Given the description of an element on the screen output the (x, y) to click on. 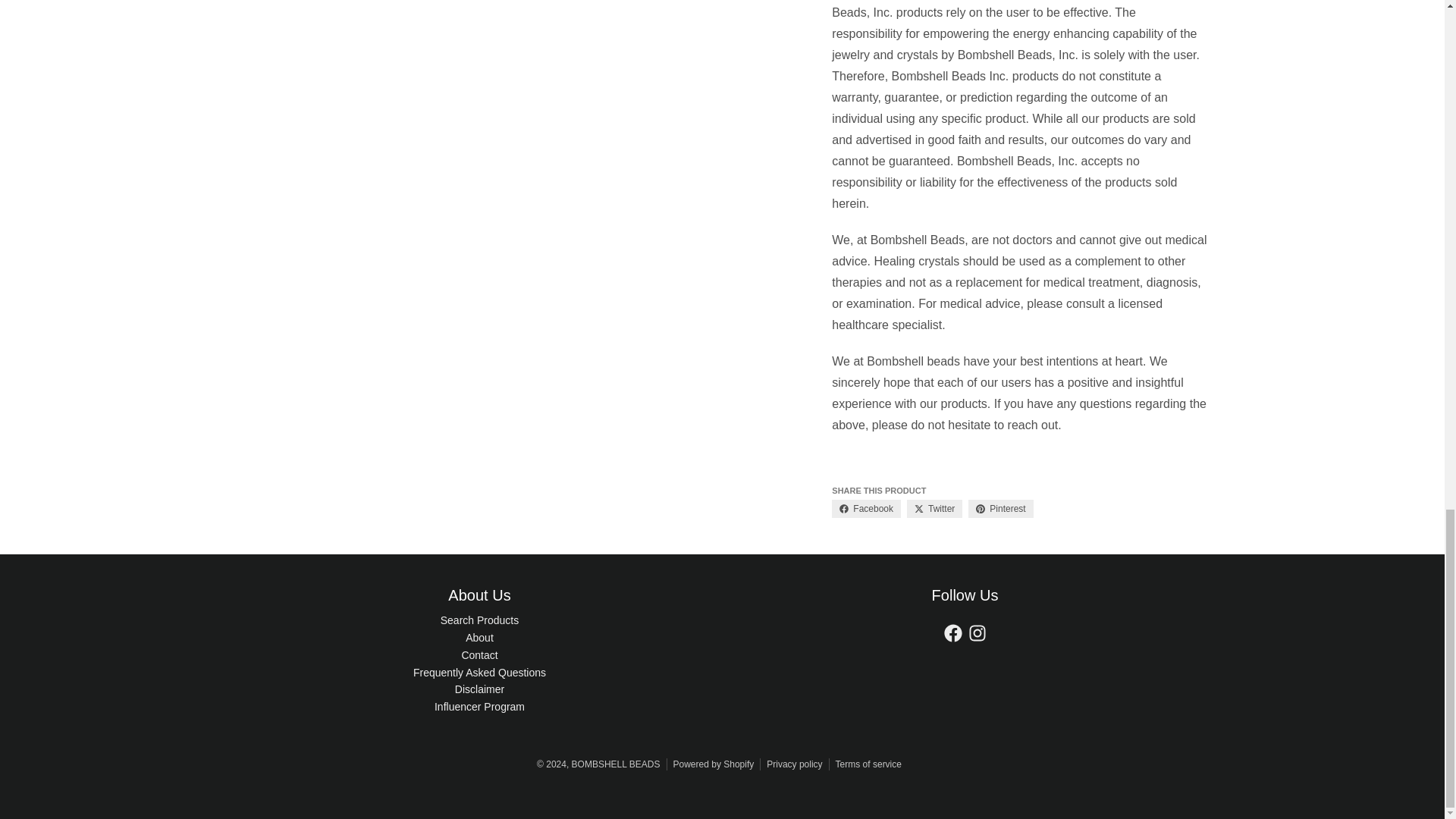
Instagram - BOMBSHELL BEADS (976, 633)
Facebook - BOMBSHELL BEADS (951, 633)
